Given the description of an element on the screen output the (x, y) to click on. 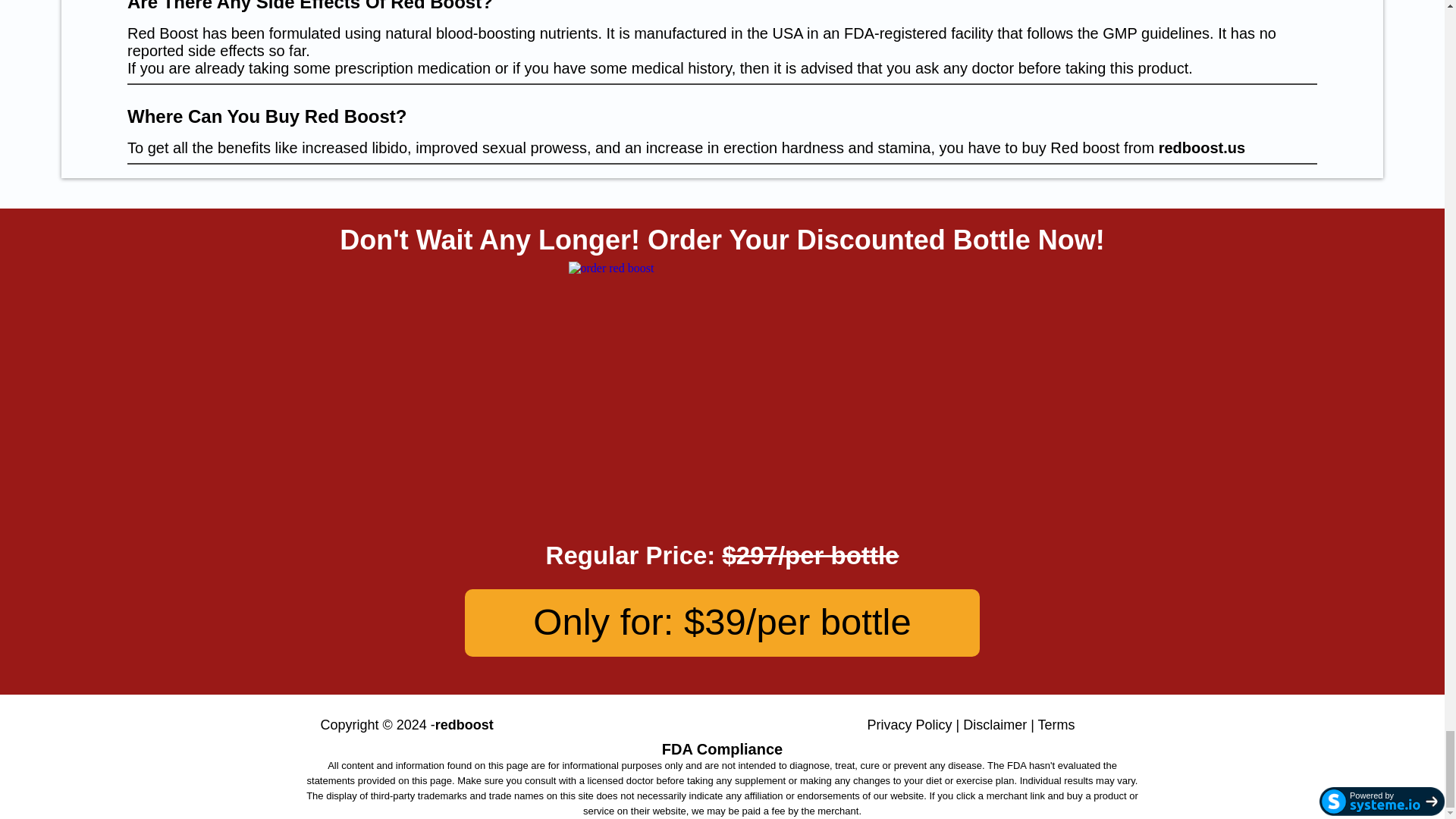
Privacy Policy (909, 724)
Disclaimer (994, 724)
Term (1053, 724)
